Given the description of an element on the screen output the (x, y) to click on. 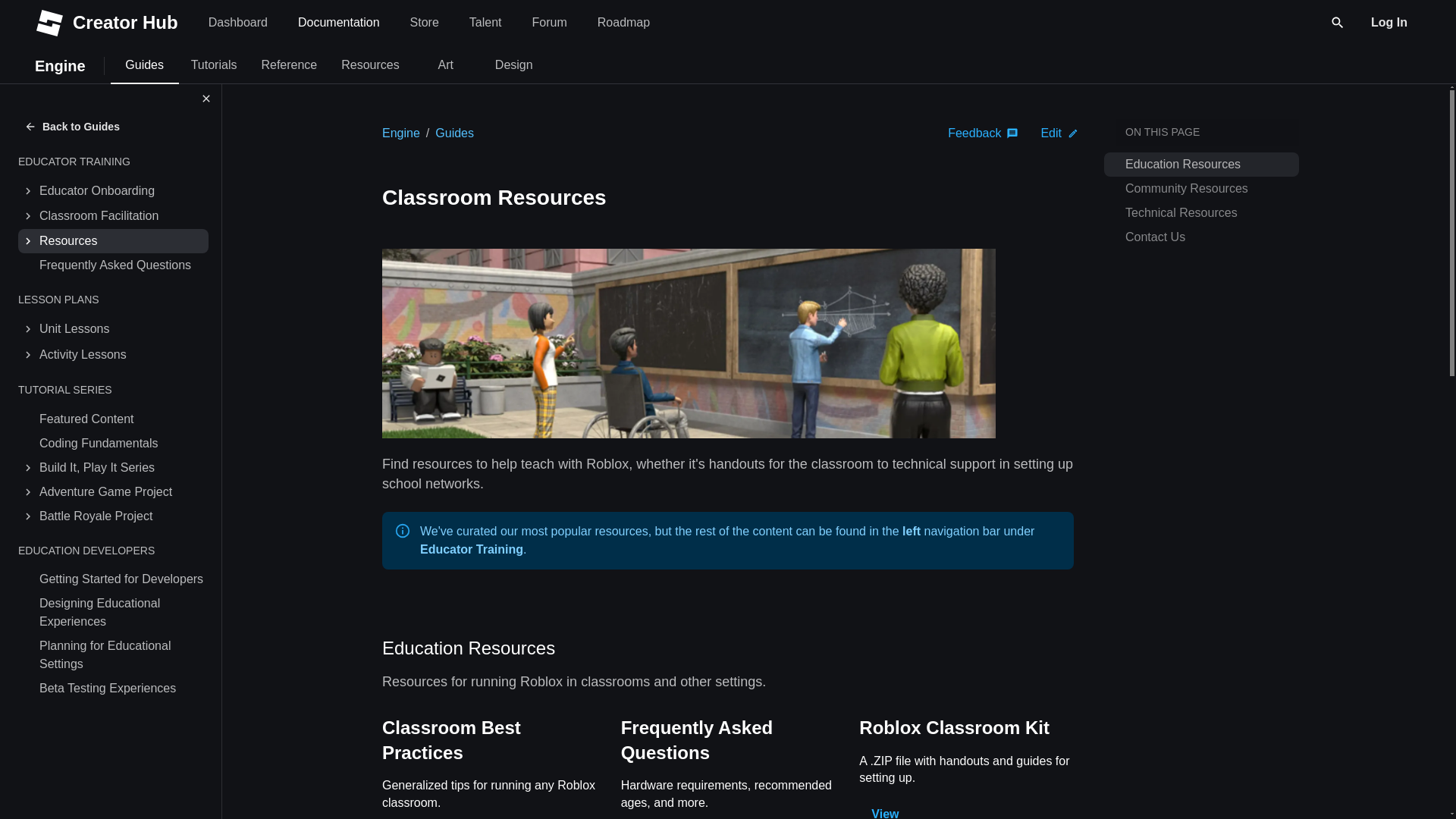
Design (514, 63)
Guides (454, 132)
Art (446, 63)
Build It, Play It Series (122, 467)
Talent (485, 22)
Reference (288, 63)
Adventure Game Project (122, 491)
Coding Fundamentals (122, 443)
Store (424, 22)
Resources (122, 241)
Documentation (429, 22)
Edit (338, 22)
Unit Lessons (1059, 133)
Educator Onboarding (122, 329)
